Given the description of an element on the screen output the (x, y) to click on. 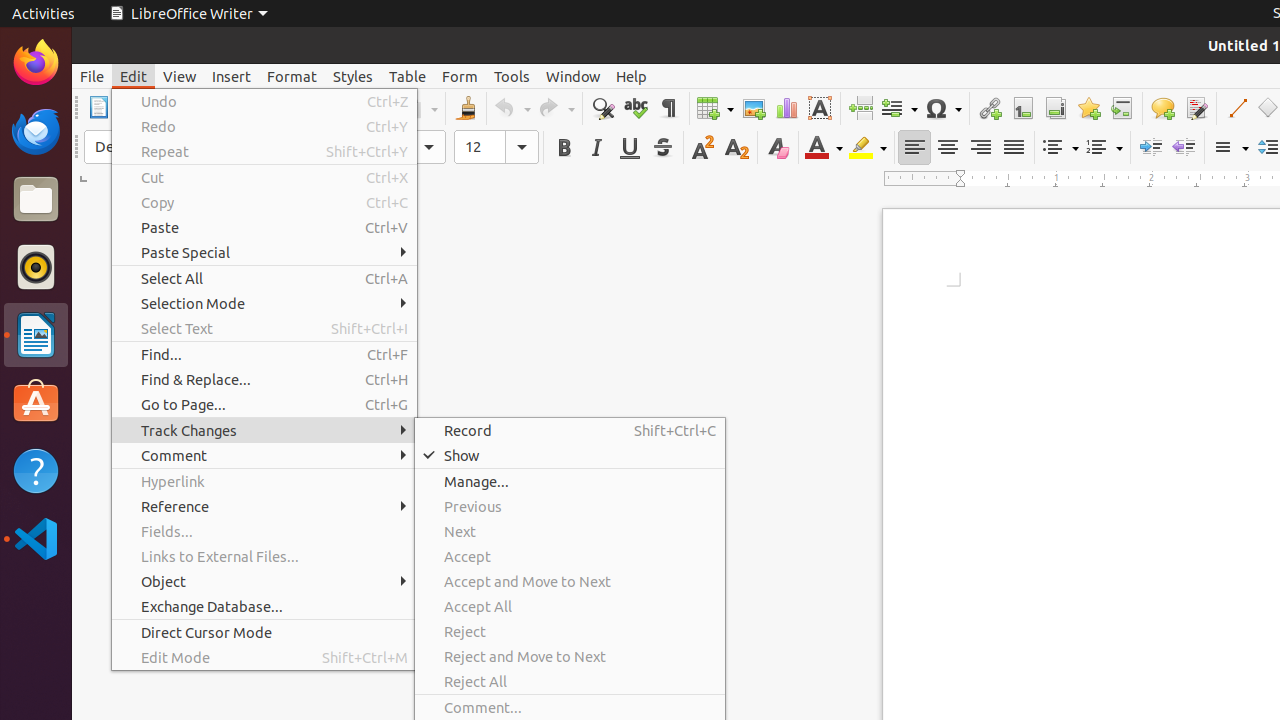
Copy Element type: menu-item (264, 202)
Next Element type: menu-item (570, 531)
Bold Element type: toggle-button (563, 147)
Line Spacing Element type: push-button (1230, 147)
View Element type: menu (179, 76)
